Given the description of an element on the screen output the (x, y) to click on. 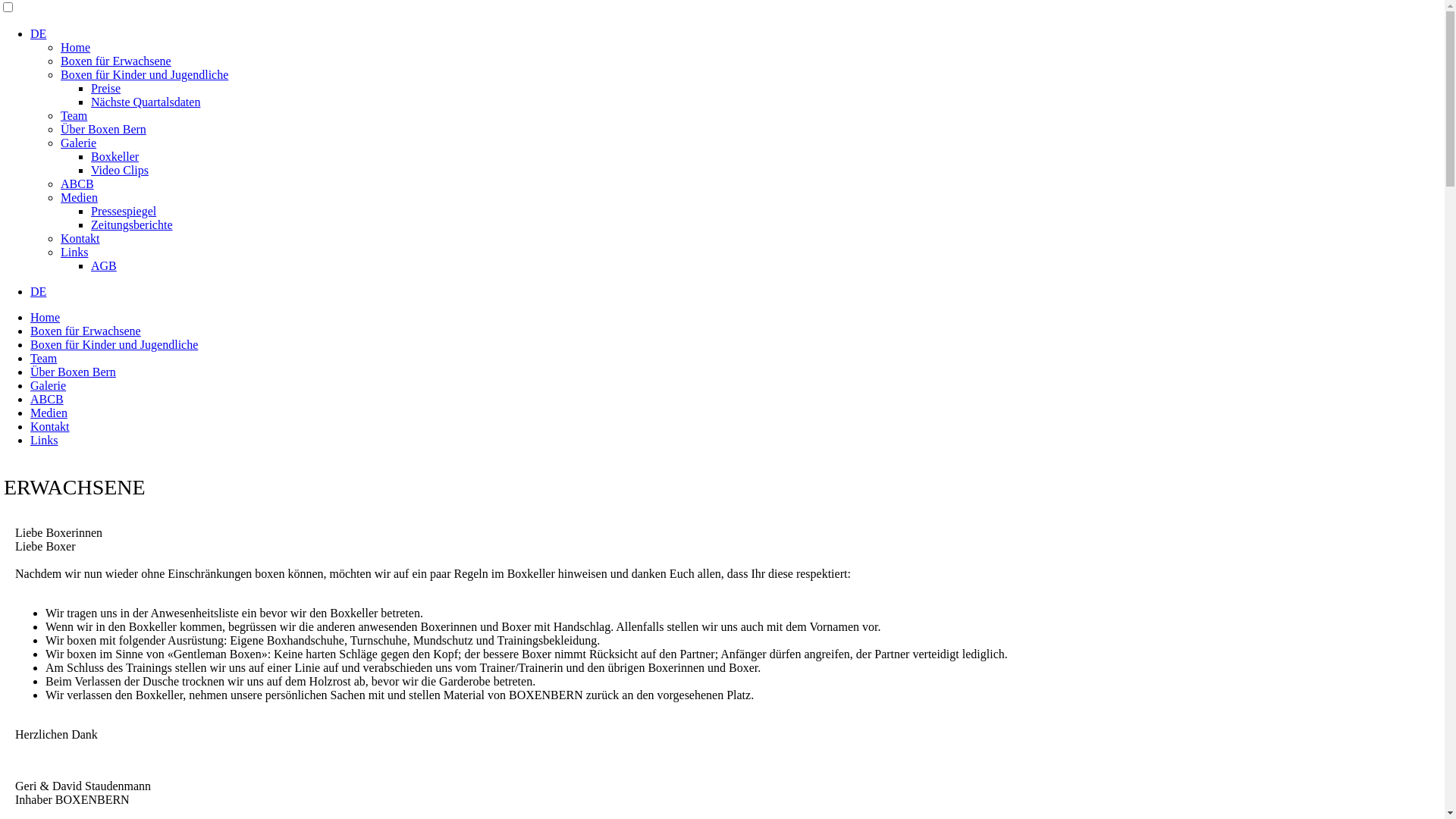
Kontakt Element type: text (80, 238)
Galerie Element type: text (78, 142)
Team Element type: text (73, 115)
Pressespiegel Element type: text (123, 210)
Home Element type: text (75, 46)
Team Element type: text (43, 357)
ABCB Element type: text (46, 398)
Links Element type: text (73, 251)
Kontakt Element type: text (49, 426)
ABCB Element type: text (77, 183)
Links Element type: text (43, 439)
Zeitungsberichte Element type: text (131, 224)
AGB Element type: text (103, 265)
DE Element type: text (38, 291)
Medien Element type: text (48, 412)
Galerie Element type: text (47, 385)
Boxkeller Element type: text (114, 156)
DE Element type: text (38, 33)
Home Element type: text (44, 316)
Preise Element type: text (105, 87)
Video Clips Element type: text (119, 169)
Medien Element type: text (78, 197)
